Given the description of an element on the screen output the (x, y) to click on. 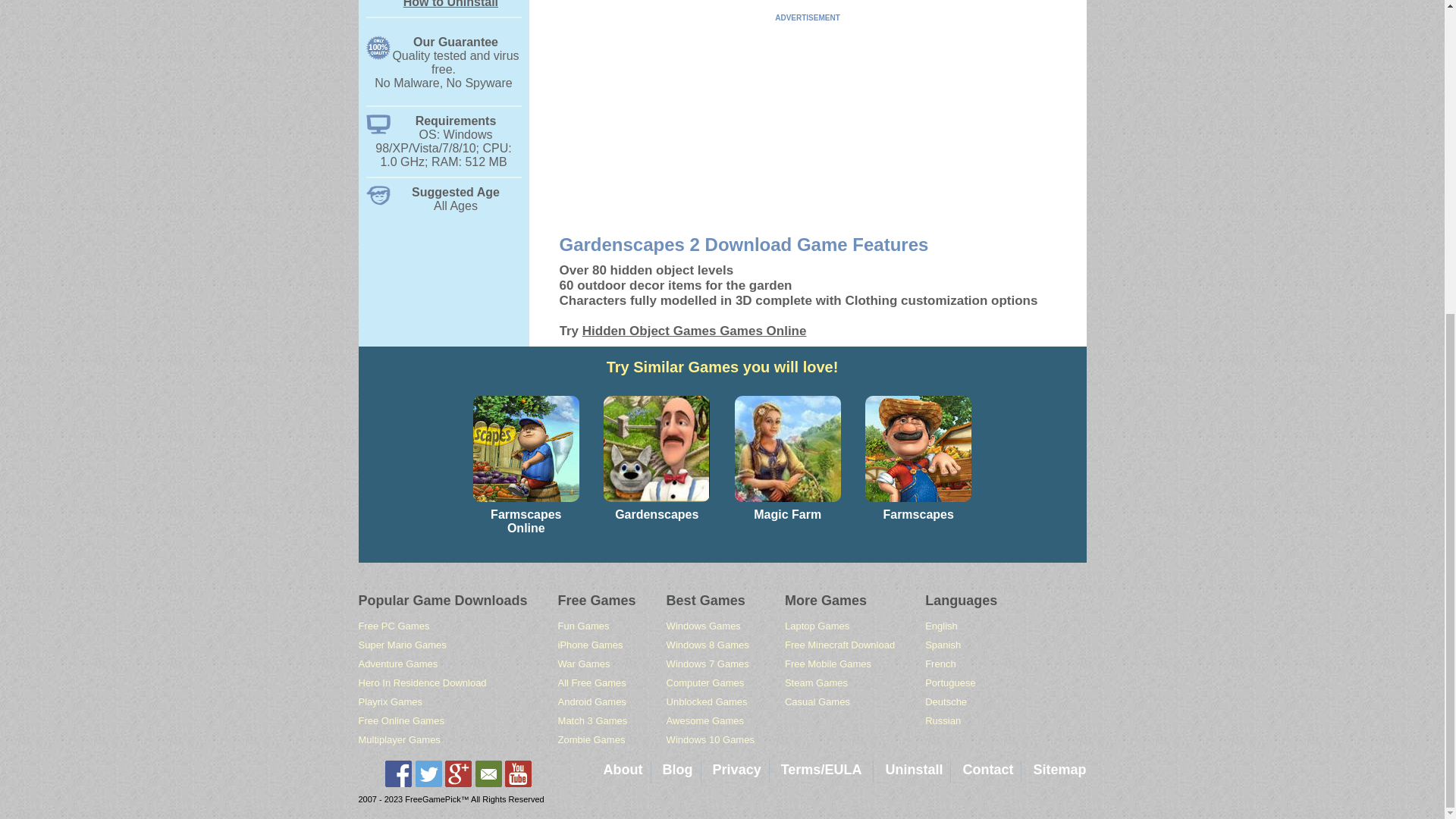
Hero In Residence Download (422, 682)
Free PC Games (393, 625)
Our Guarantee (443, 42)
Super Mario Games (446, 69)
Playrix Games (401, 644)
Adventure Games (390, 701)
How to Uninstall (398, 663)
How to Uninstall (450, 4)
